Given the description of an element on the screen output the (x, y) to click on. 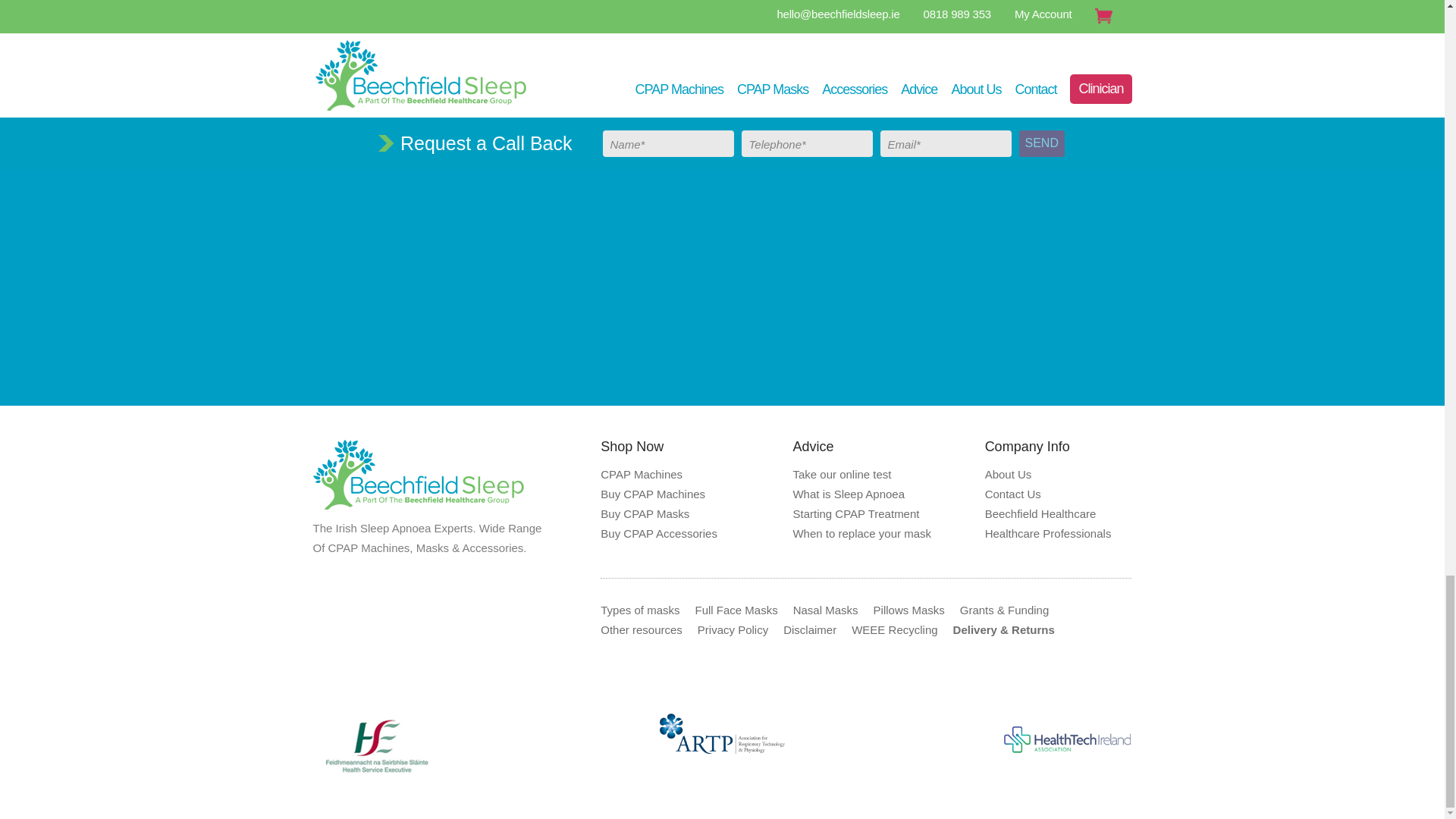
logo (418, 474)
hse-new (376, 745)
health-tech-new (1067, 737)
artp (722, 733)
